Given the description of an element on the screen output the (x, y) to click on. 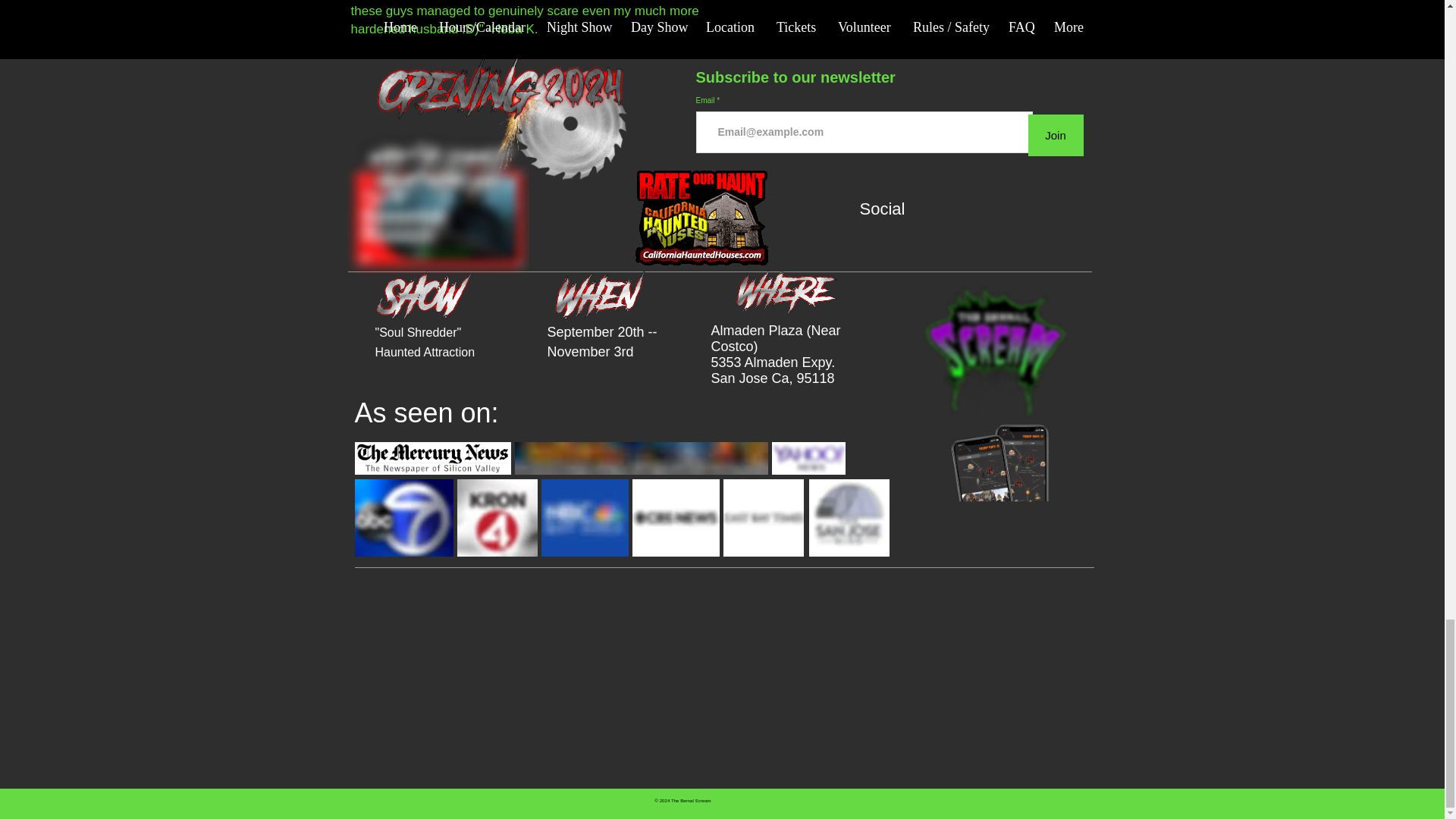
Join (1055, 135)
Opening 2024.gif (500, 123)
Haunt world.jpg (640, 458)
